Given the description of an element on the screen output the (x, y) to click on. 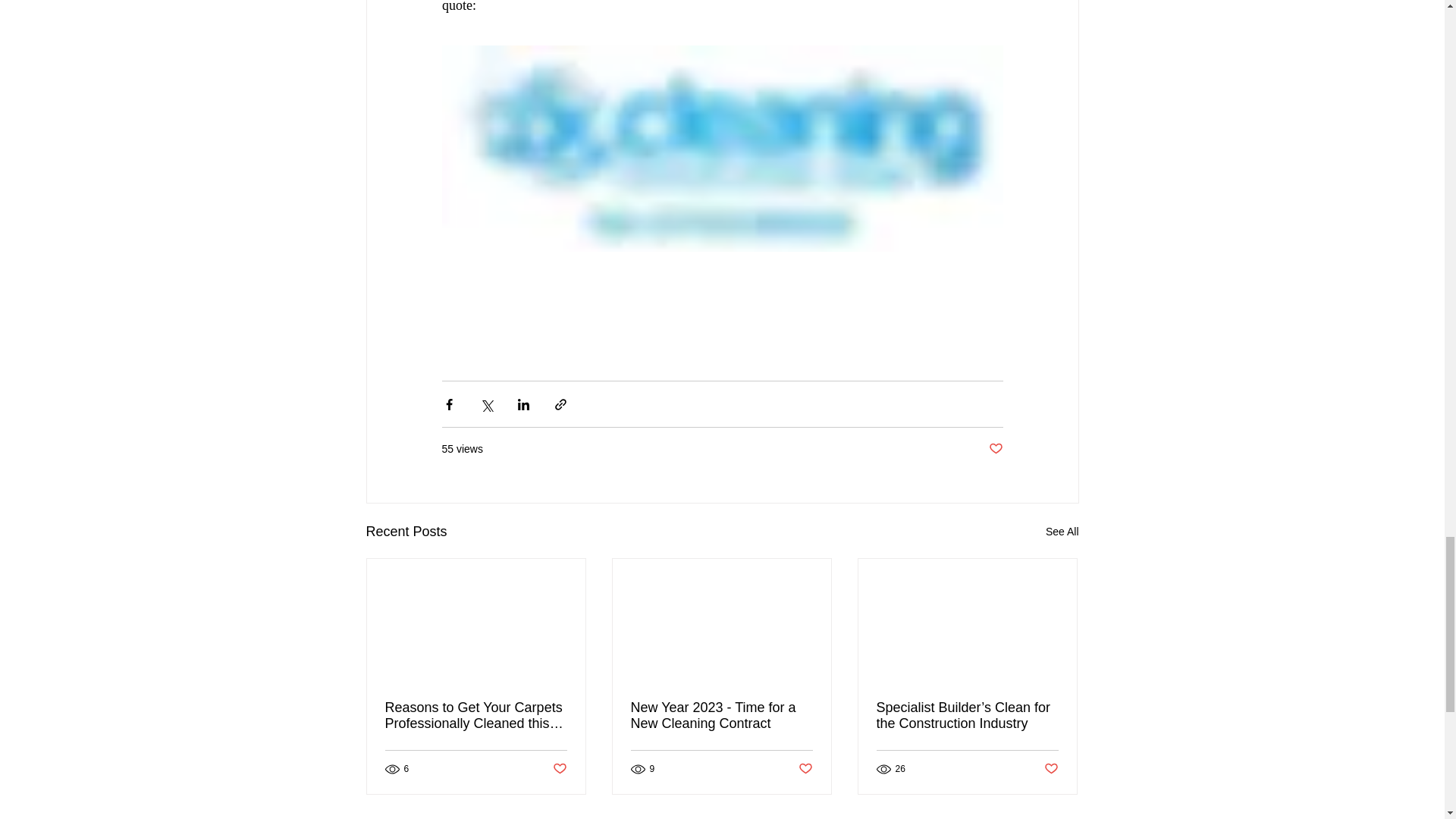
Post not marked as liked (1050, 769)
Post not marked as liked (995, 449)
See All (1061, 531)
Post not marked as liked (804, 769)
Post not marked as liked (558, 769)
New Year 2023 - Time for a New Cleaning Contract (721, 716)
